Given the description of an element on the screen output the (x, y) to click on. 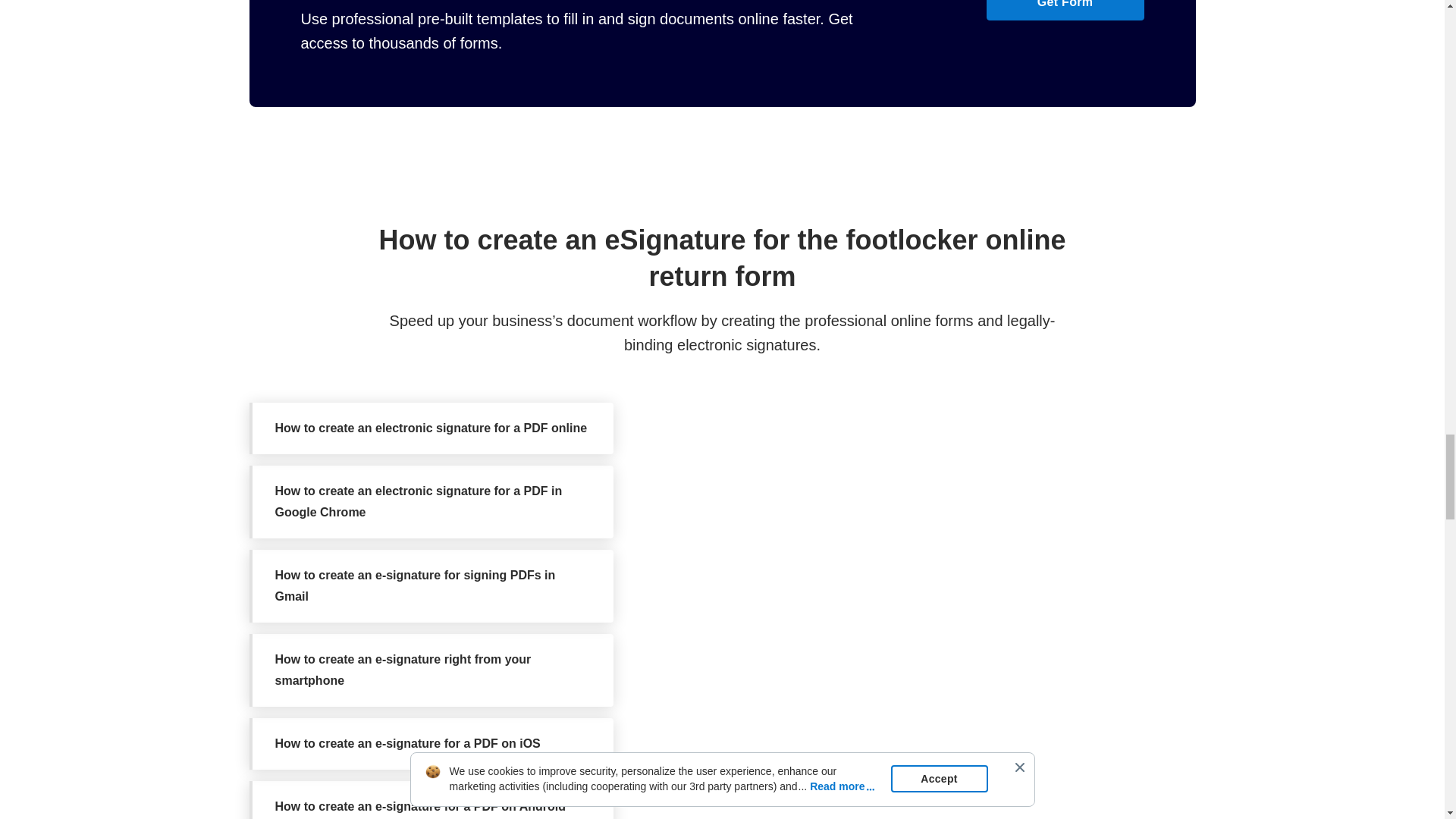
Get Form (1063, 10)
